Given the description of an element on the screen output the (x, y) to click on. 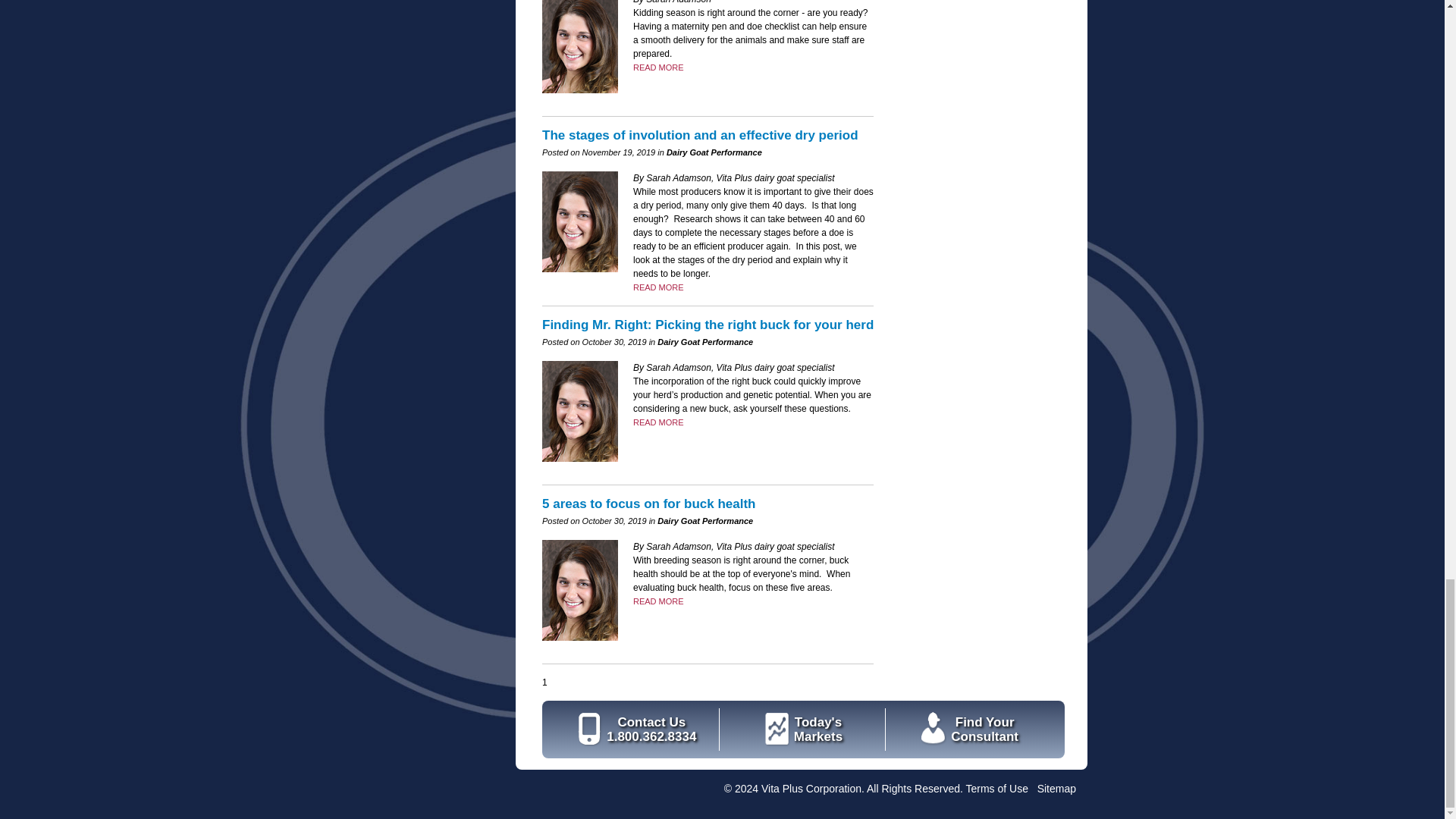
Winter calf barn ventilation (658, 286)
Winter calf barn ventilation (658, 67)
Winter calf barn ventilation (658, 421)
Winter calf barn ventilation (658, 601)
